Given the description of an element on the screen output the (x, y) to click on. 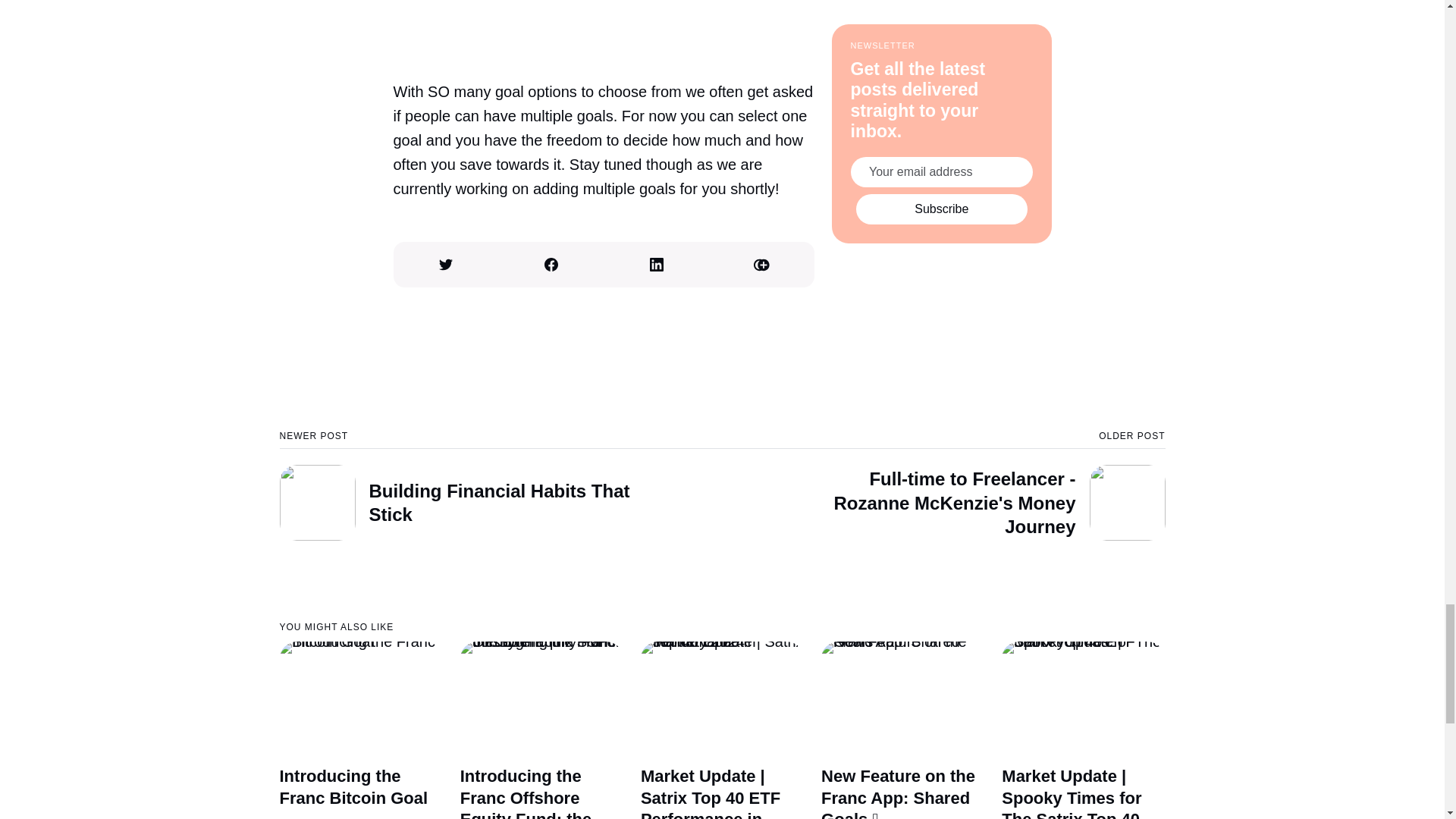
Introducing the Franc Bitcoin Goal (500, 485)
